Given the description of an element on the screen output the (x, y) to click on. 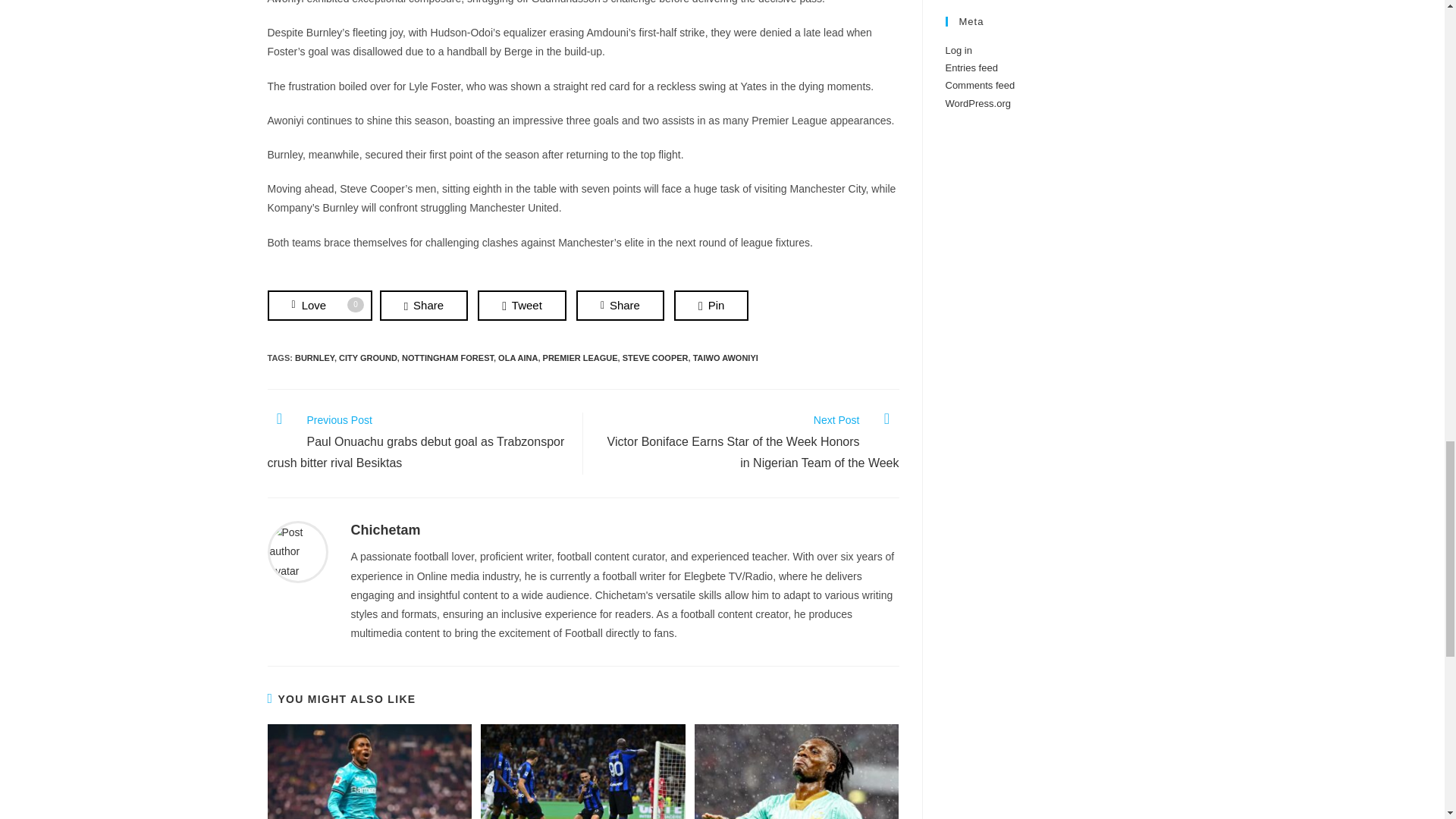
Share this (619, 305)
Share (619, 305)
Tweet (521, 305)
Pin (711, 305)
Visit author page (385, 529)
Share (423, 305)
Pin this (711, 305)
Tweet this (521, 305)
Love this (318, 305)
Visit author page (296, 551)
